Given the description of an element on the screen output the (x, y) to click on. 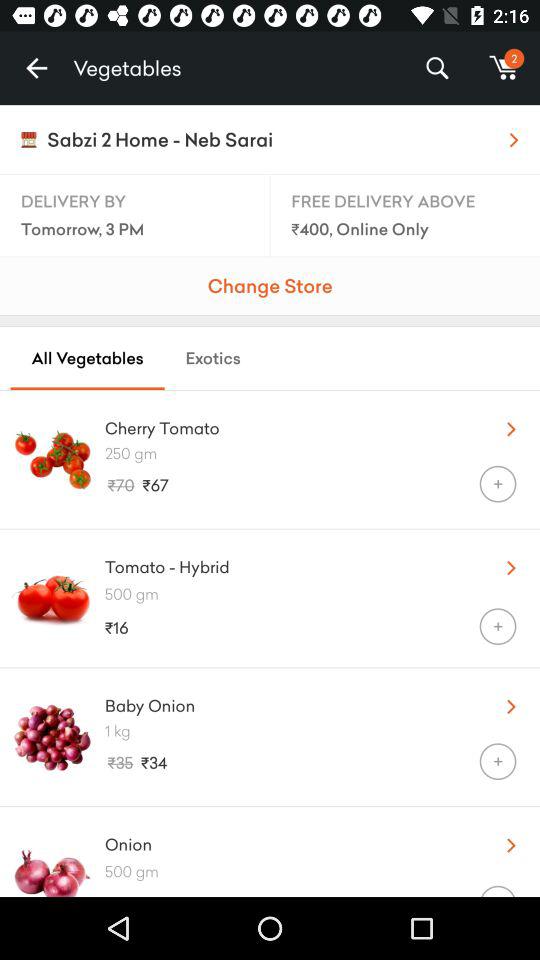
select the item below 250 gm icon (497, 483)
